Given the description of an element on the screen output the (x, y) to click on. 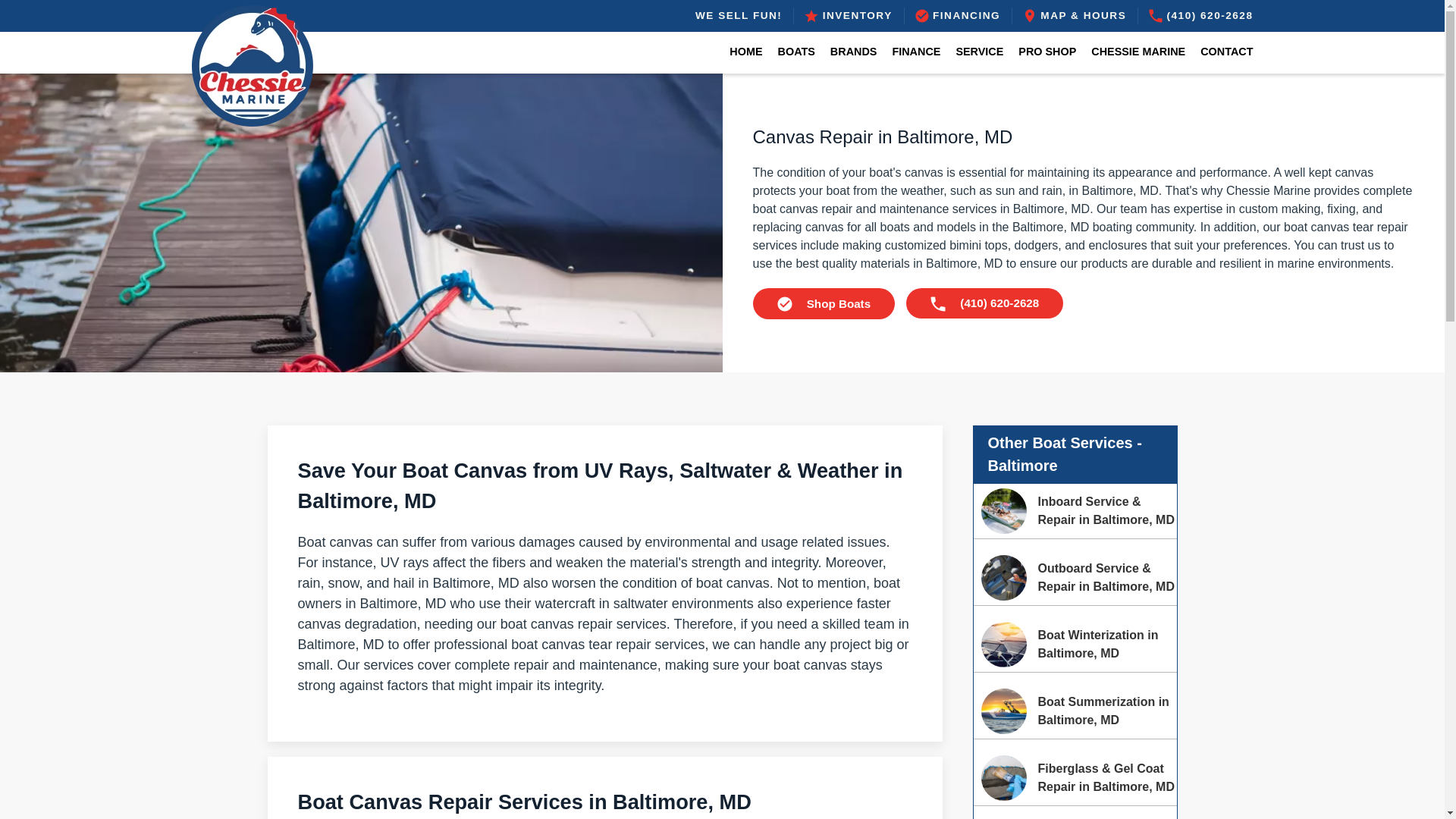
Learn More About Boat Winterization in Baltimore, MD (1075, 644)
Boat Winterization in Baltimore, MD (1003, 644)
 FINANCING (957, 15)
BOATS (796, 52)
Learn More About Boat Summerization in Baltimore, MD (1075, 710)
Boat Summerization in Baltimore, MD (1003, 710)
 INVENTORY (848, 15)
WE SELL FUN! (738, 15)
BRANDS (853, 52)
